Given the description of an element on the screen output the (x, y) to click on. 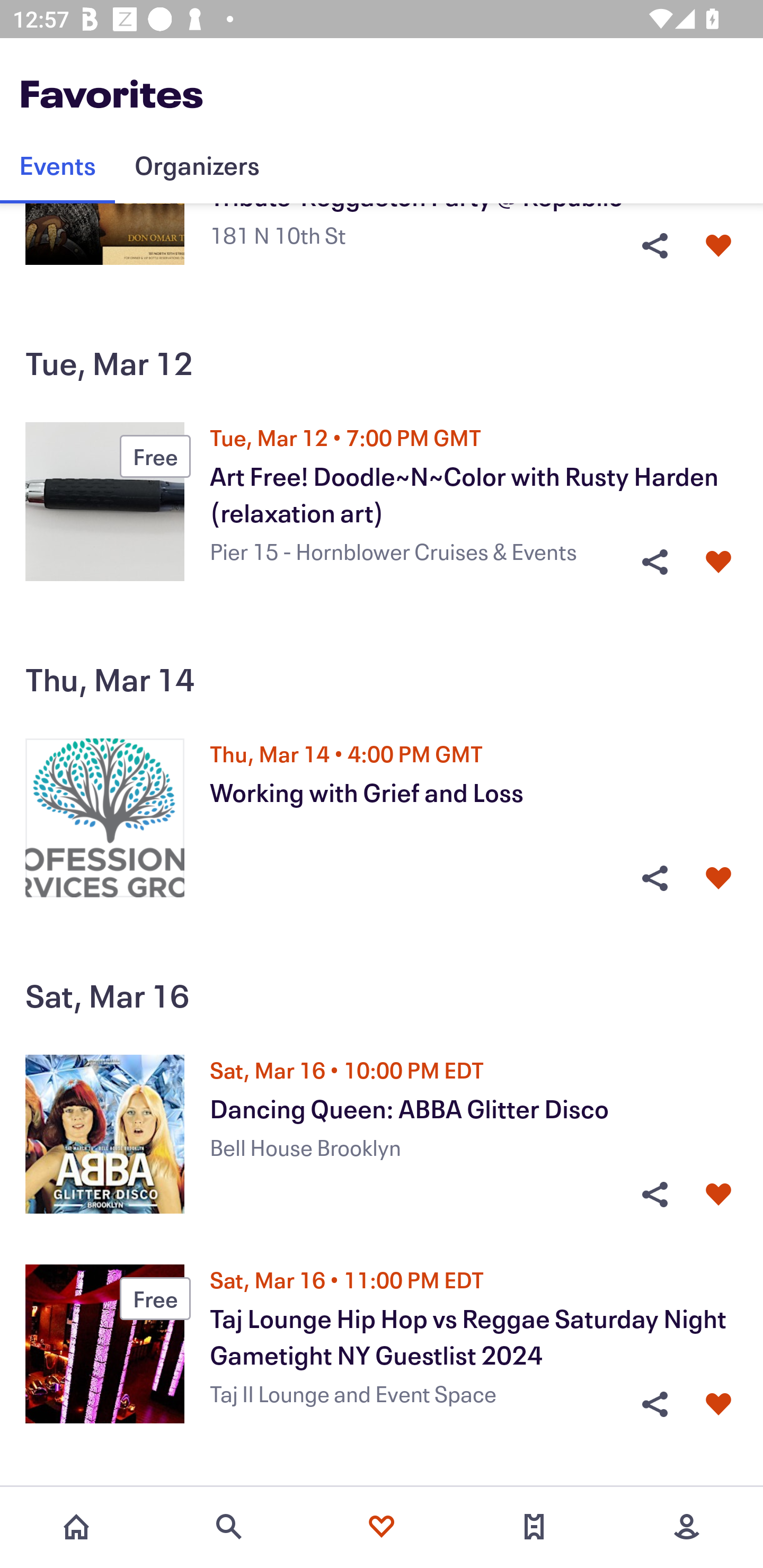
Organizers (196, 165)
Share Event (654, 245)
Unlike event (718, 245)
Share Event (654, 561)
Unlike event (718, 561)
Share Event (654, 877)
Unlike event (718, 877)
Share Event (654, 1194)
Unlike event (718, 1194)
Share Event (654, 1403)
Unlike event (718, 1403)
Home (76, 1526)
Search events (228, 1526)
Favorites (381, 1526)
Tickets (533, 1526)
More (686, 1526)
